Given the description of an element on the screen output the (x, y) to click on. 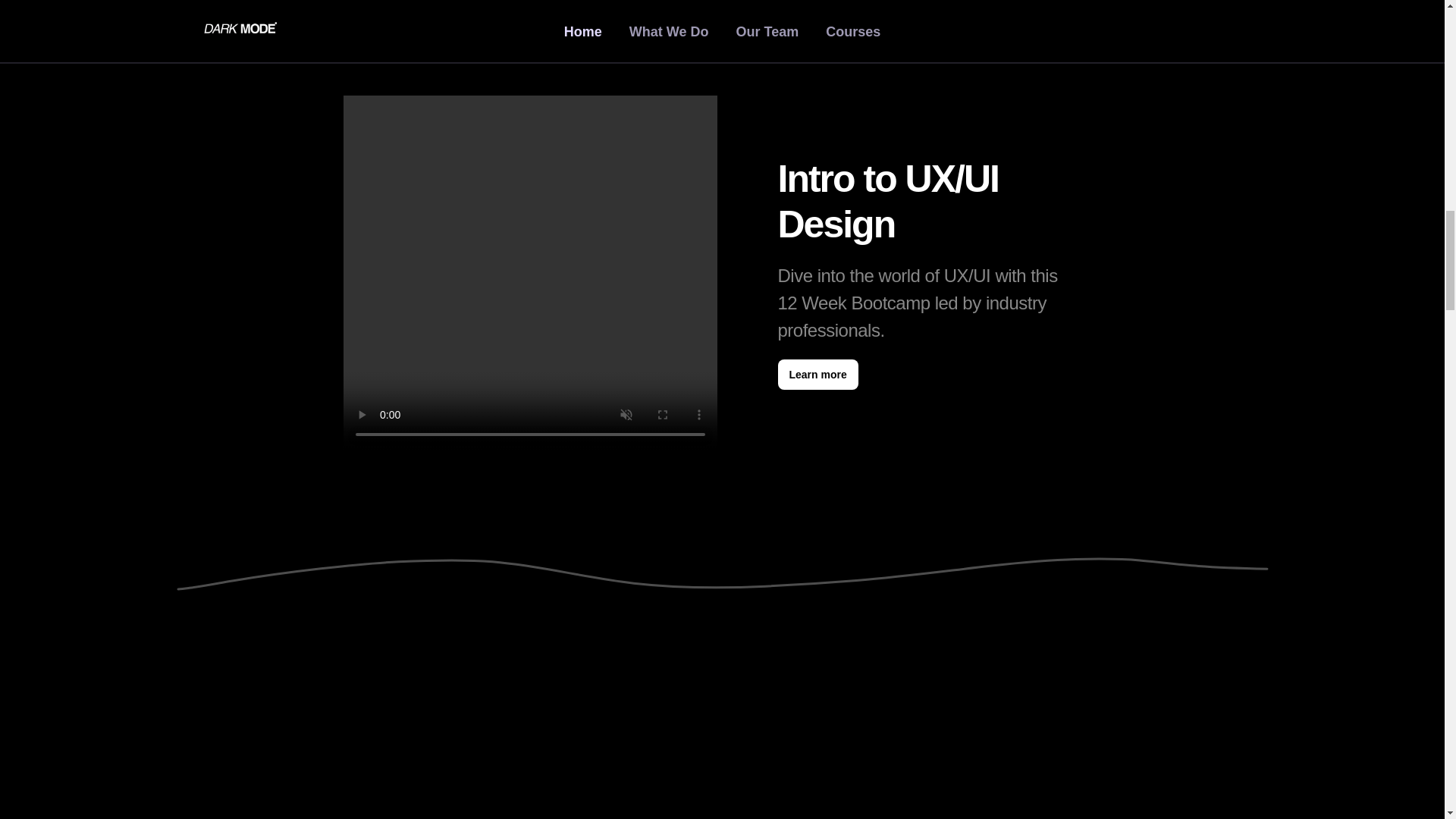
Learn more (818, 374)
